Given the description of an element on the screen output the (x, y) to click on. 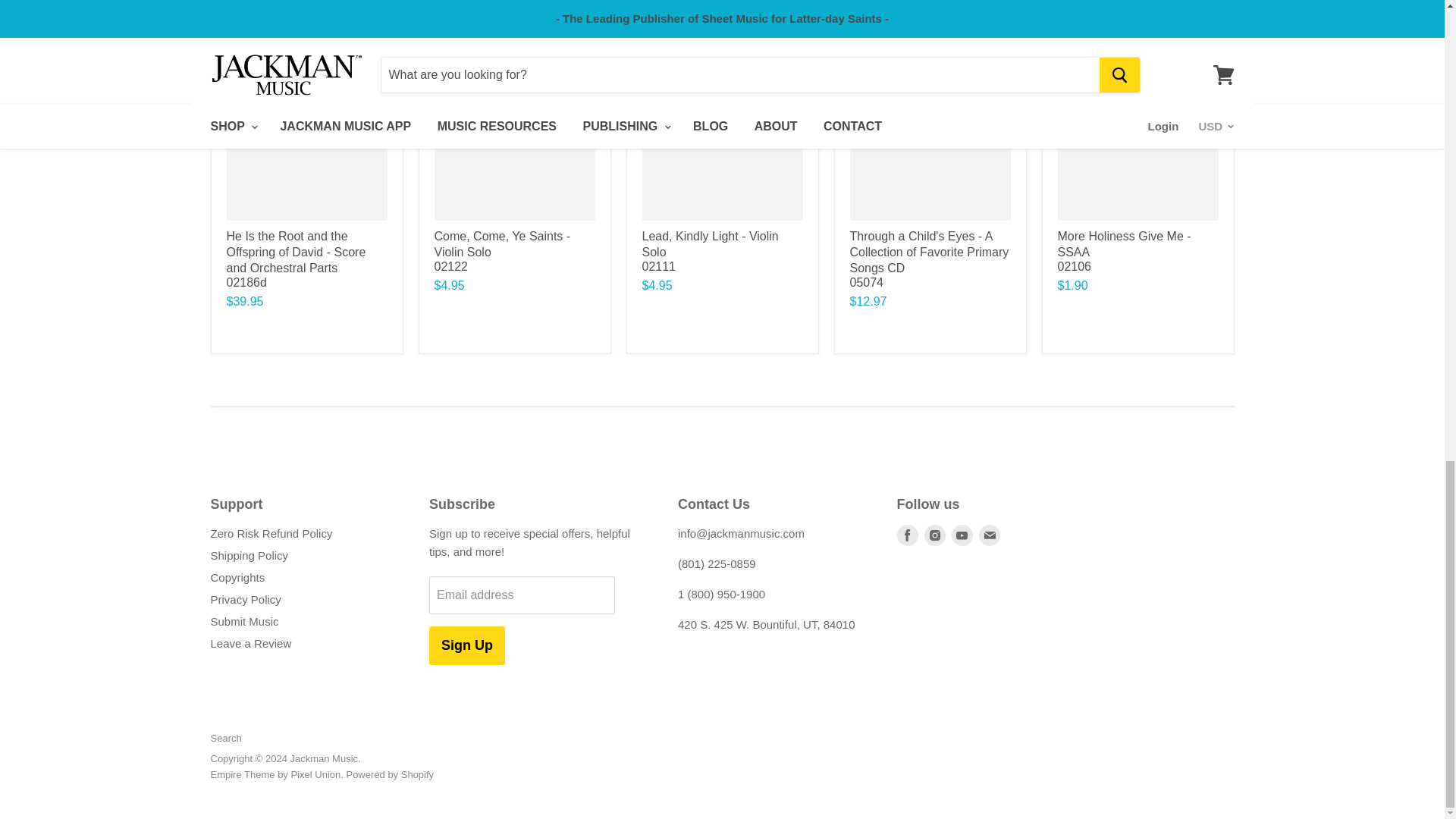
Facebook (906, 534)
E-mail (989, 534)
Youtube (961, 534)
Instagram (933, 534)
